Given the description of an element on the screen output the (x, y) to click on. 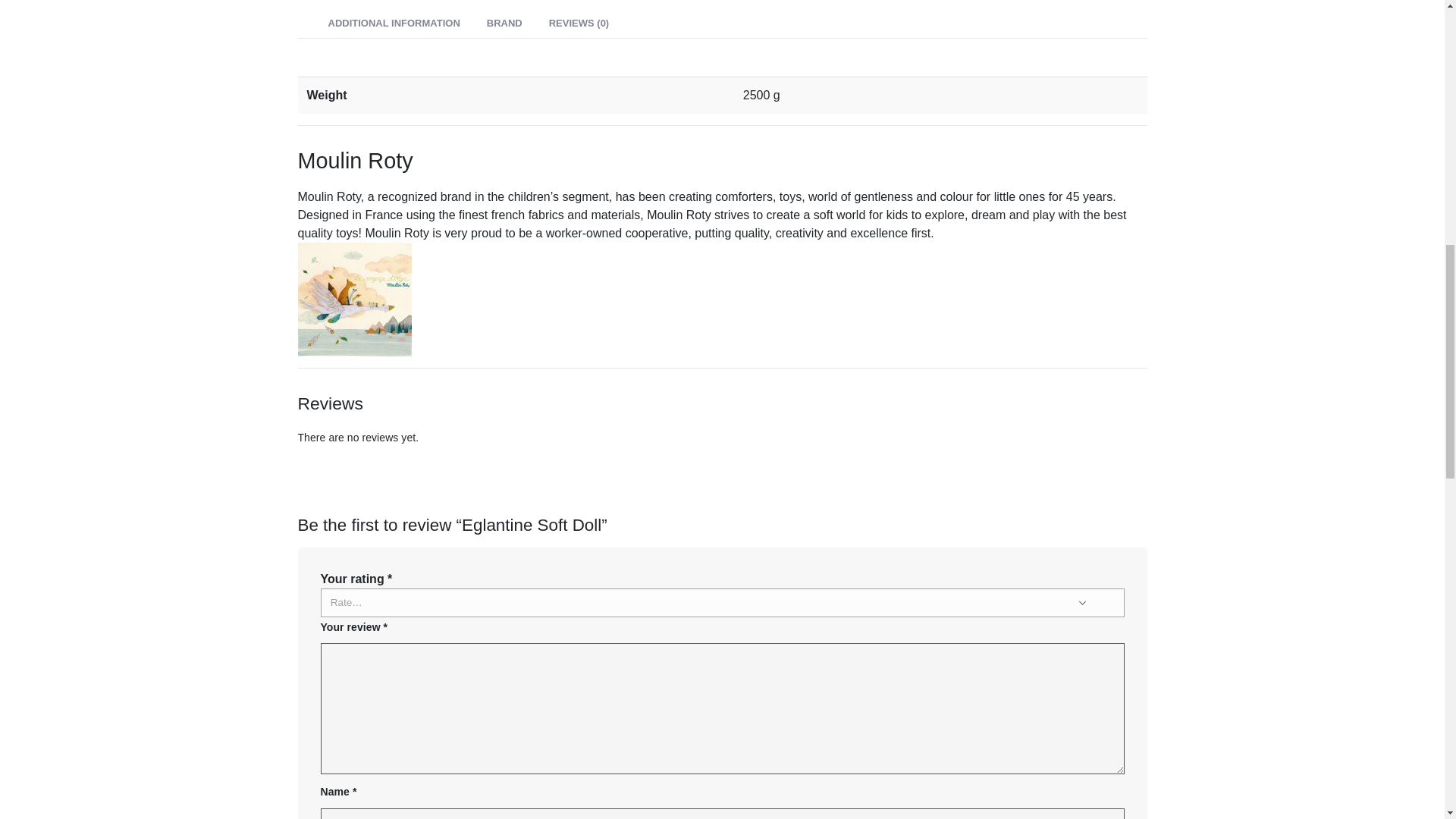
Moulin Roty (353, 297)
